Given the description of an element on the screen output the (x, y) to click on. 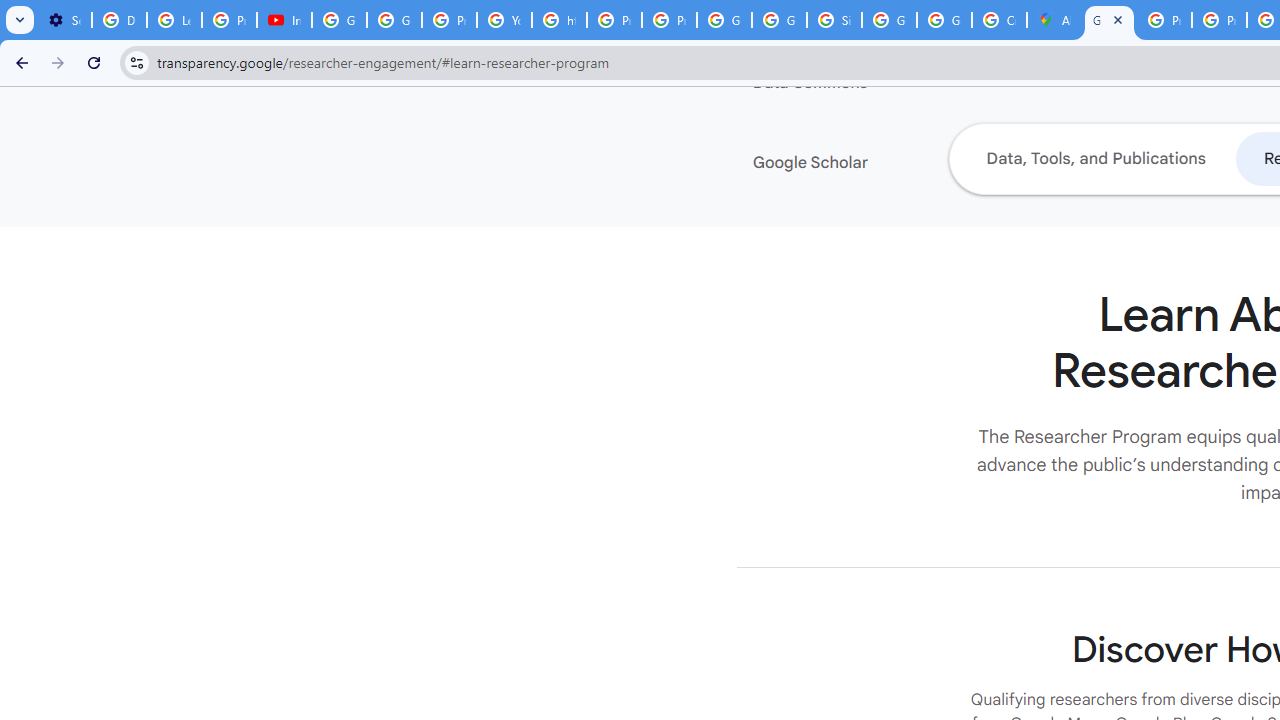
Google Scholar (874, 163)
Data, Tools, and Publications (1095, 158)
Create your Google Account (998, 20)
Google Researcher Engagement - Transparency Center (1108, 20)
Data Commons (874, 83)
Google Scholar (874, 163)
